Given the description of an element on the screen output the (x, y) to click on. 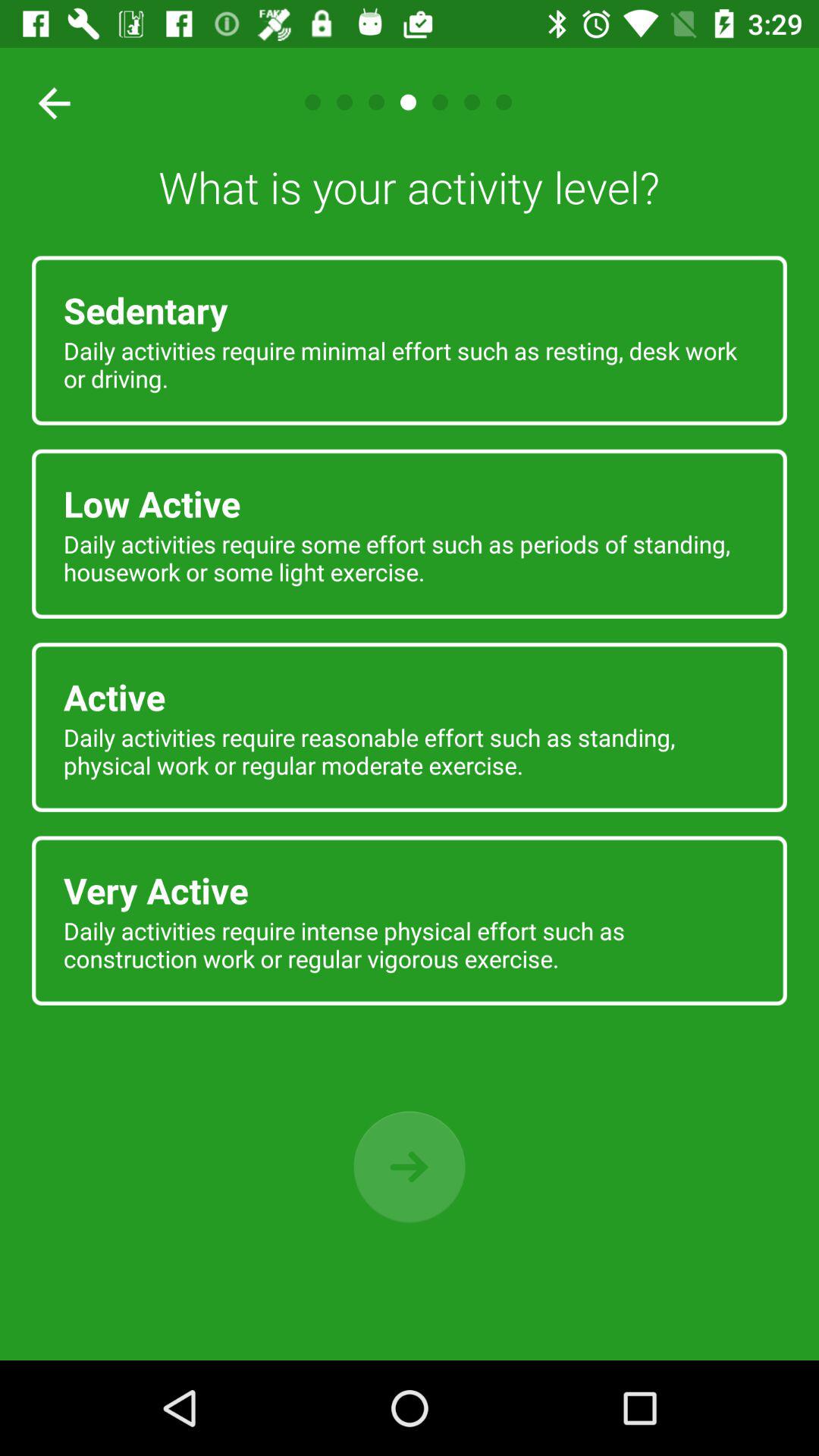
click to view next page (409, 1166)
